Given the description of an element on the screen output the (x, y) to click on. 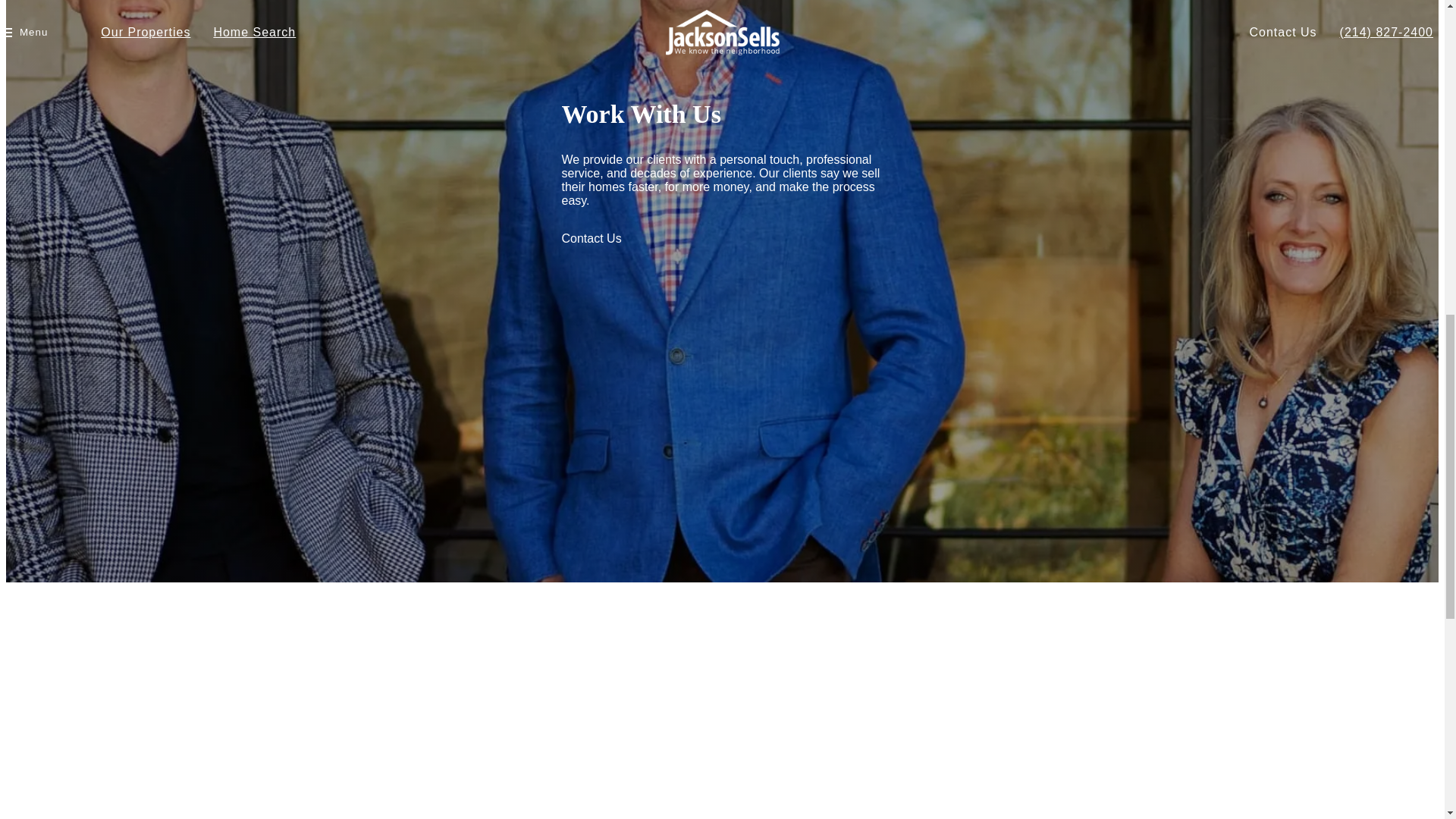
Contact Us (590, 237)
